Given the description of an element on the screen output the (x, y) to click on. 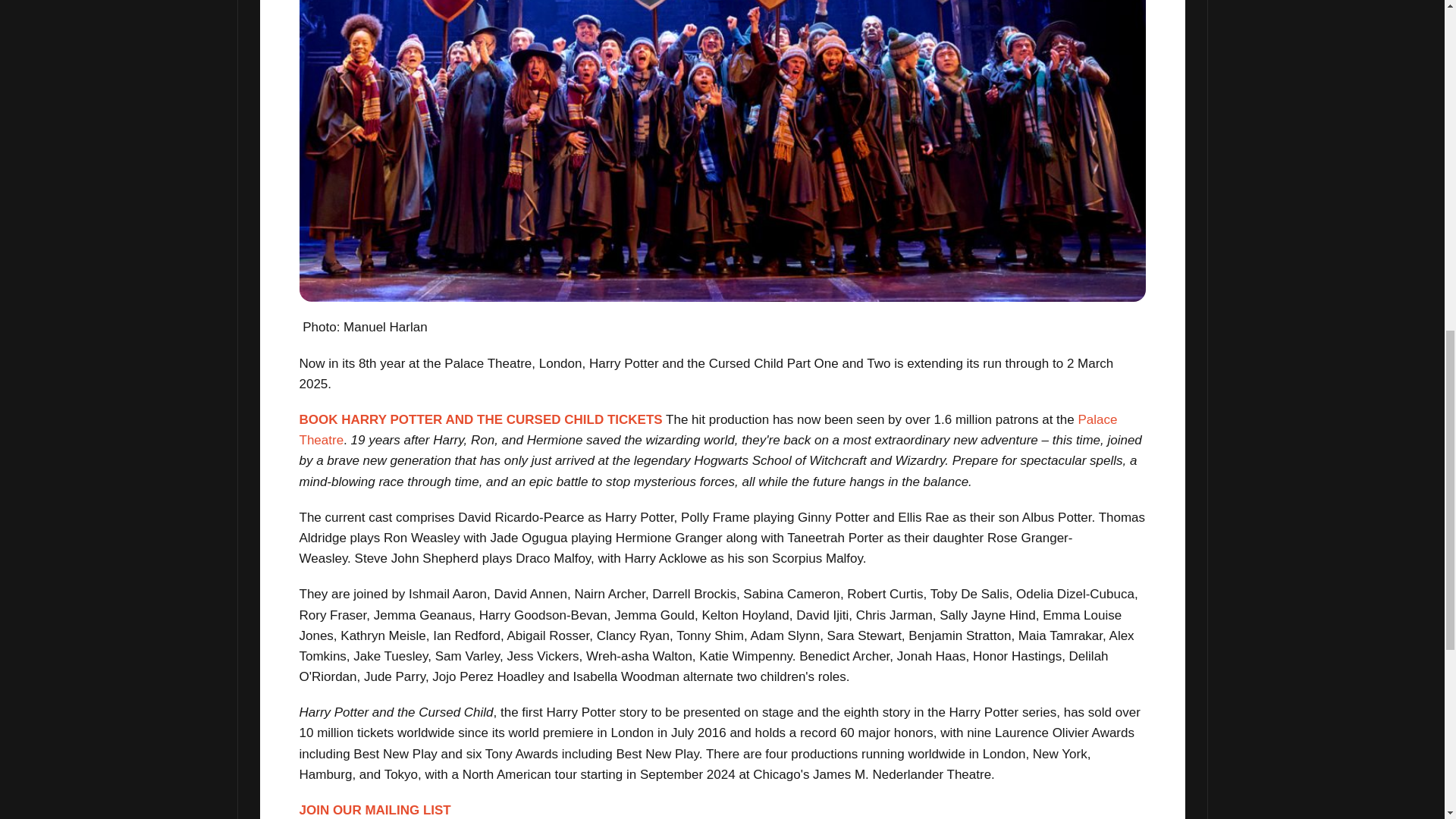
JOIN OUR MAILING LIST (373, 810)
BOOK HARRY POTTER AND THE CURSED CHILD TICKETS (480, 419)
Palace Theatre (708, 429)
